Given the description of an element on the screen output the (x, y) to click on. 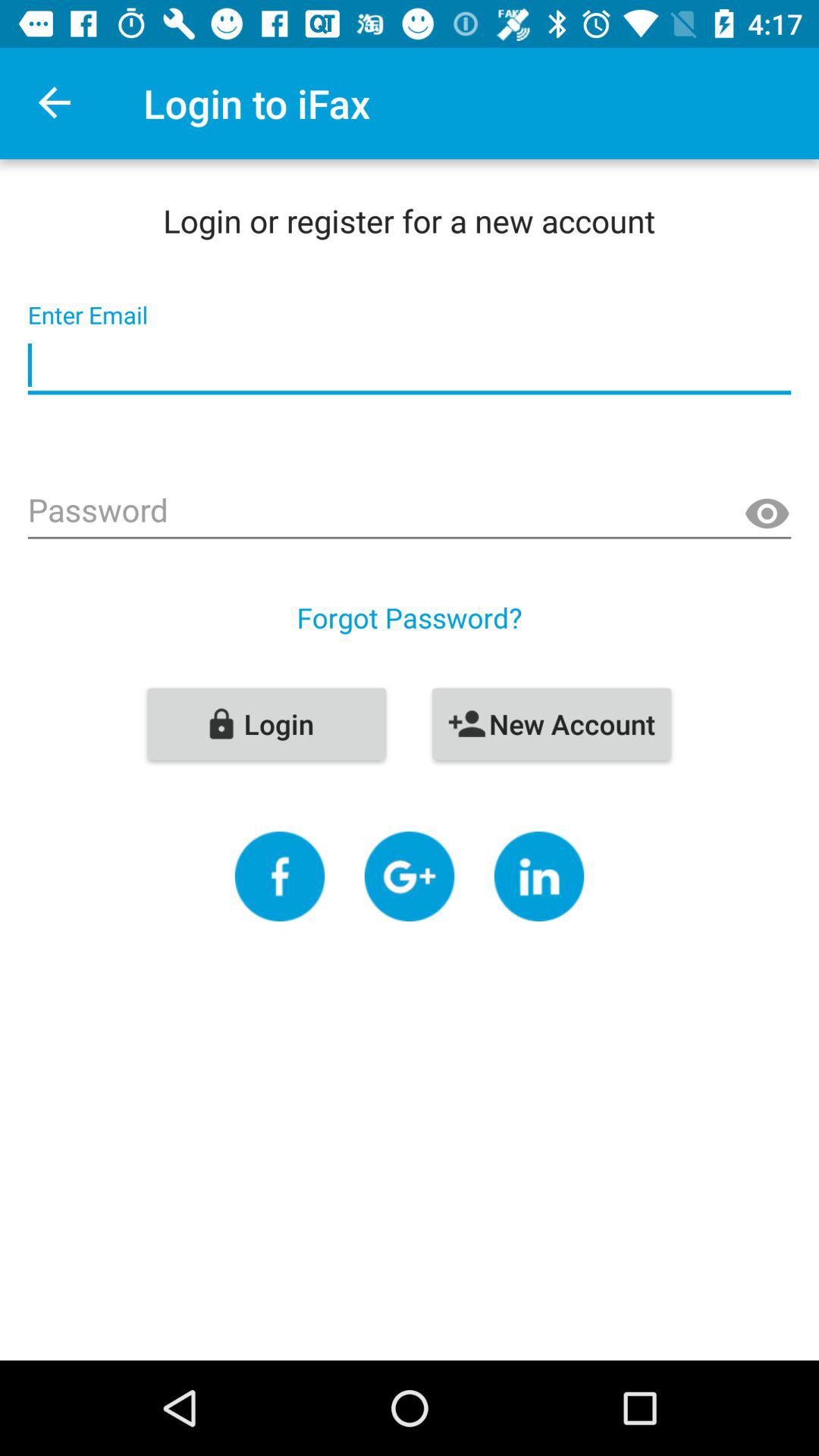
google plus button (409, 876)
